Given the description of an element on the screen output the (x, y) to click on. 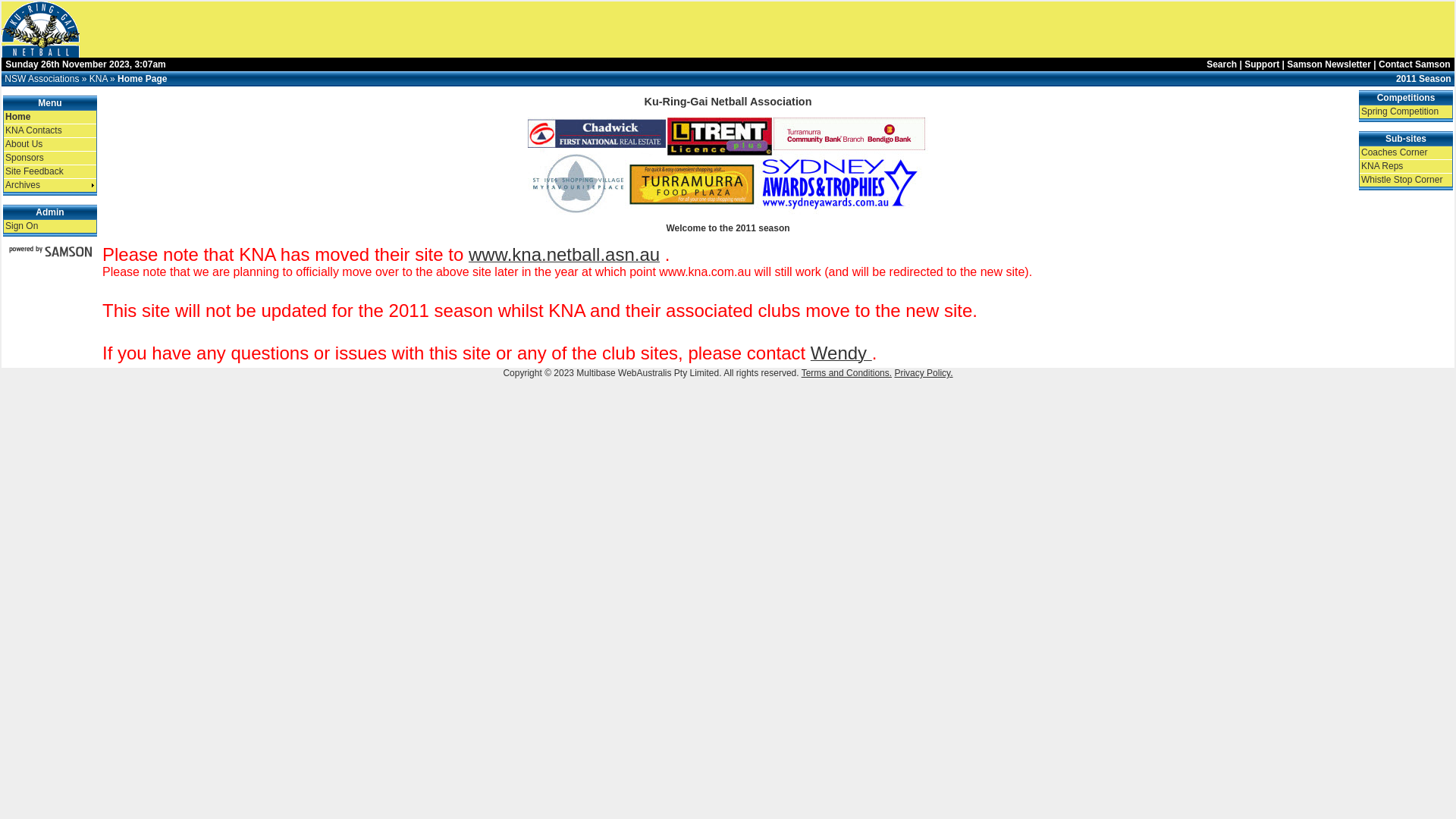
Contact Samson Element type: text (1414, 64)
Sponsors Element type: text (49, 157)
Site Feedback Element type: text (49, 171)
Wendy Element type: text (841, 356)
About Us Element type: text (49, 143)
Privacy Policy. Element type: text (923, 372)
NSW Associations Element type: text (41, 78)
Samson Newsletter Element type: text (1328, 64)
Support Element type: text (1261, 64)
Search Element type: text (1221, 64)
KNA Element type: text (98, 78)
Sign On Element type: text (49, 225)
Terms and Conditions. Element type: text (846, 372)
KNA Reps Element type: text (1405, 165)
Archives Element type: text (49, 184)
Whistle Stop Corner Element type: text (1405, 179)
Home Element type: text (49, 116)
Spring Competition Element type: text (1405, 111)
KNA Contacts Element type: text (49, 130)
www.kna.netball.asn.au Element type: text (563, 257)
Coaches Corner Element type: text (1405, 152)
